Given the description of an element on the screen output the (x, y) to click on. 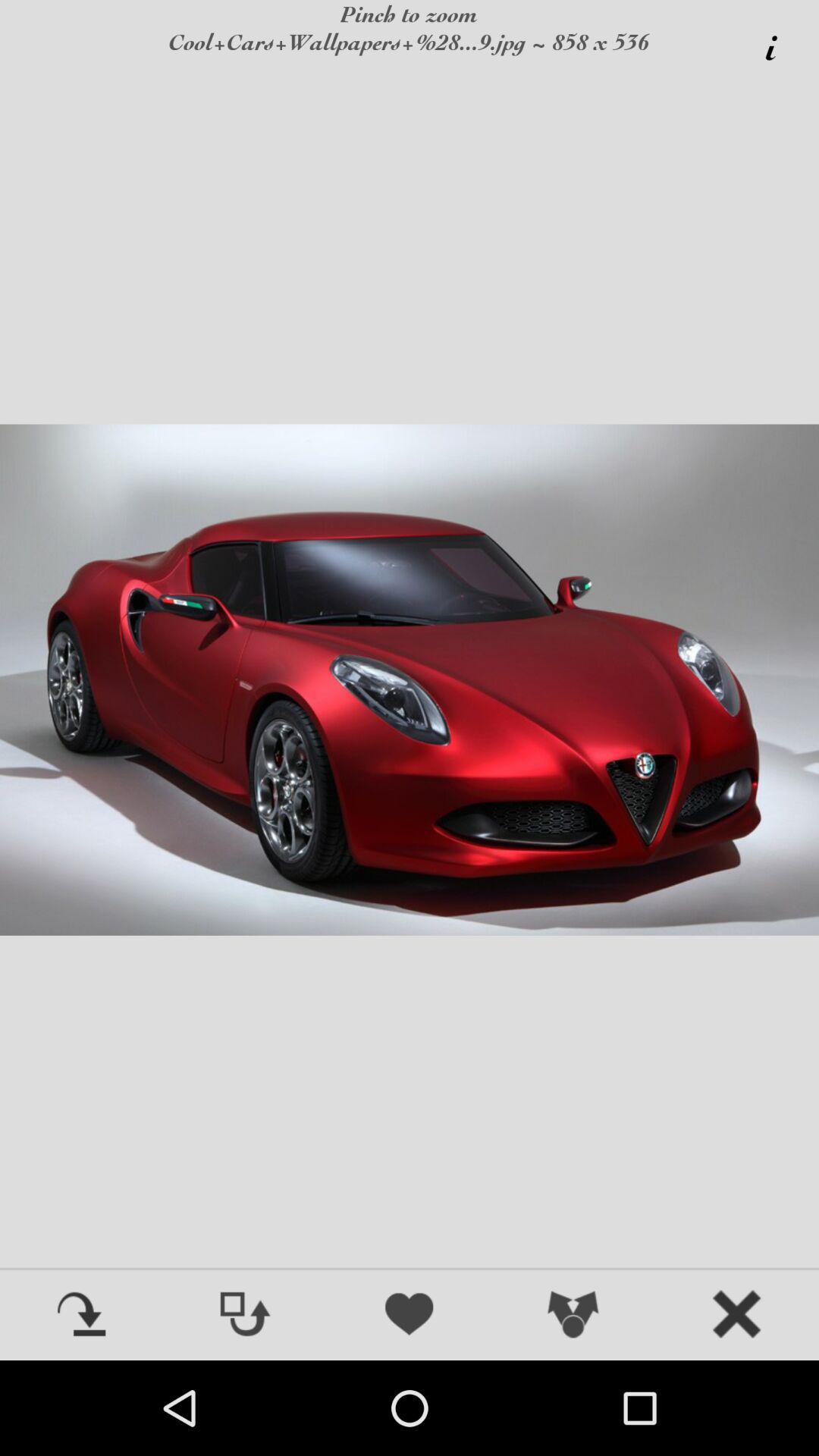
close (737, 1315)
